Given the description of an element on the screen output the (x, y) to click on. 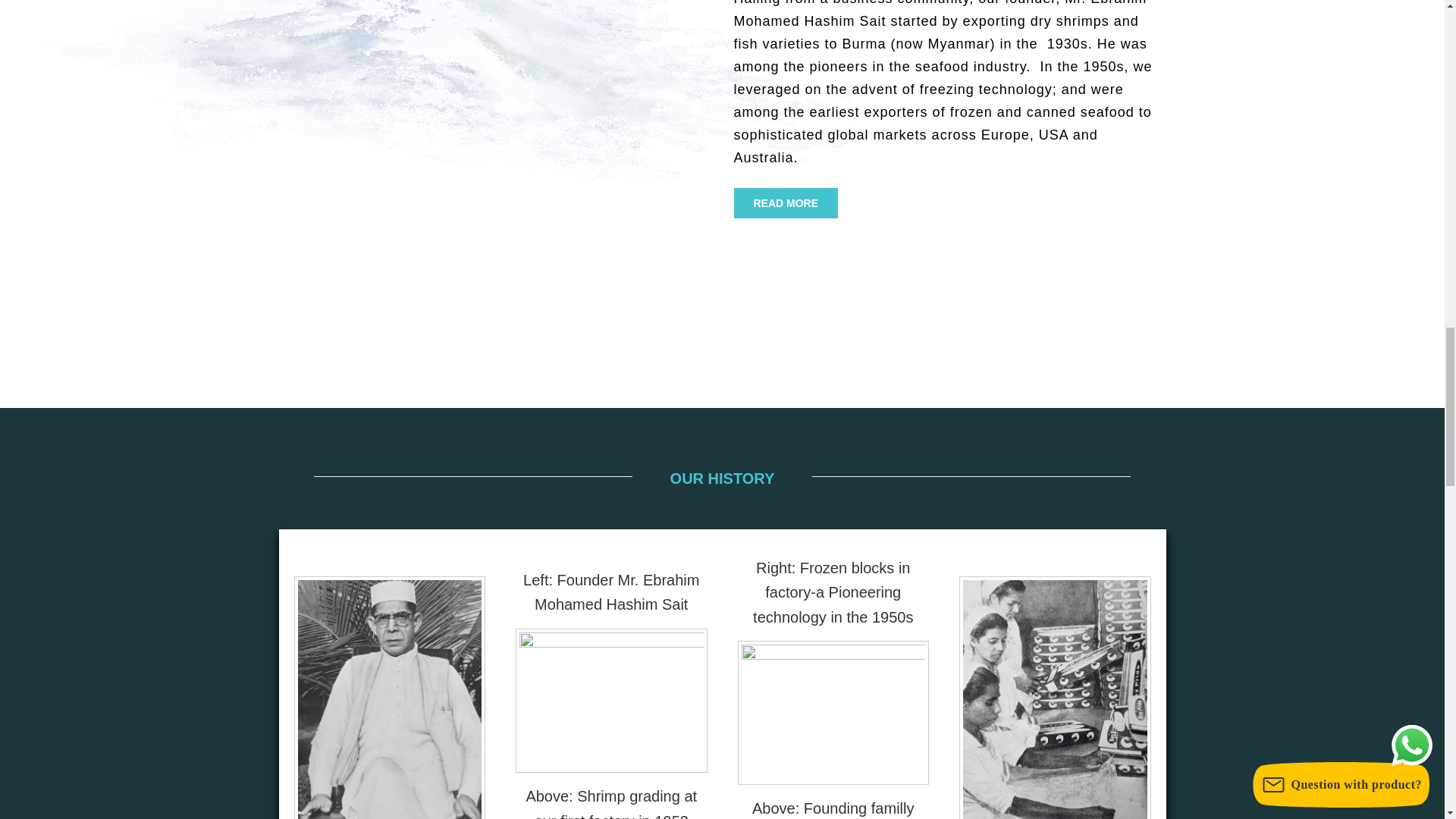
READ MORE (786, 203)
